Given the description of an element on the screen output the (x, y) to click on. 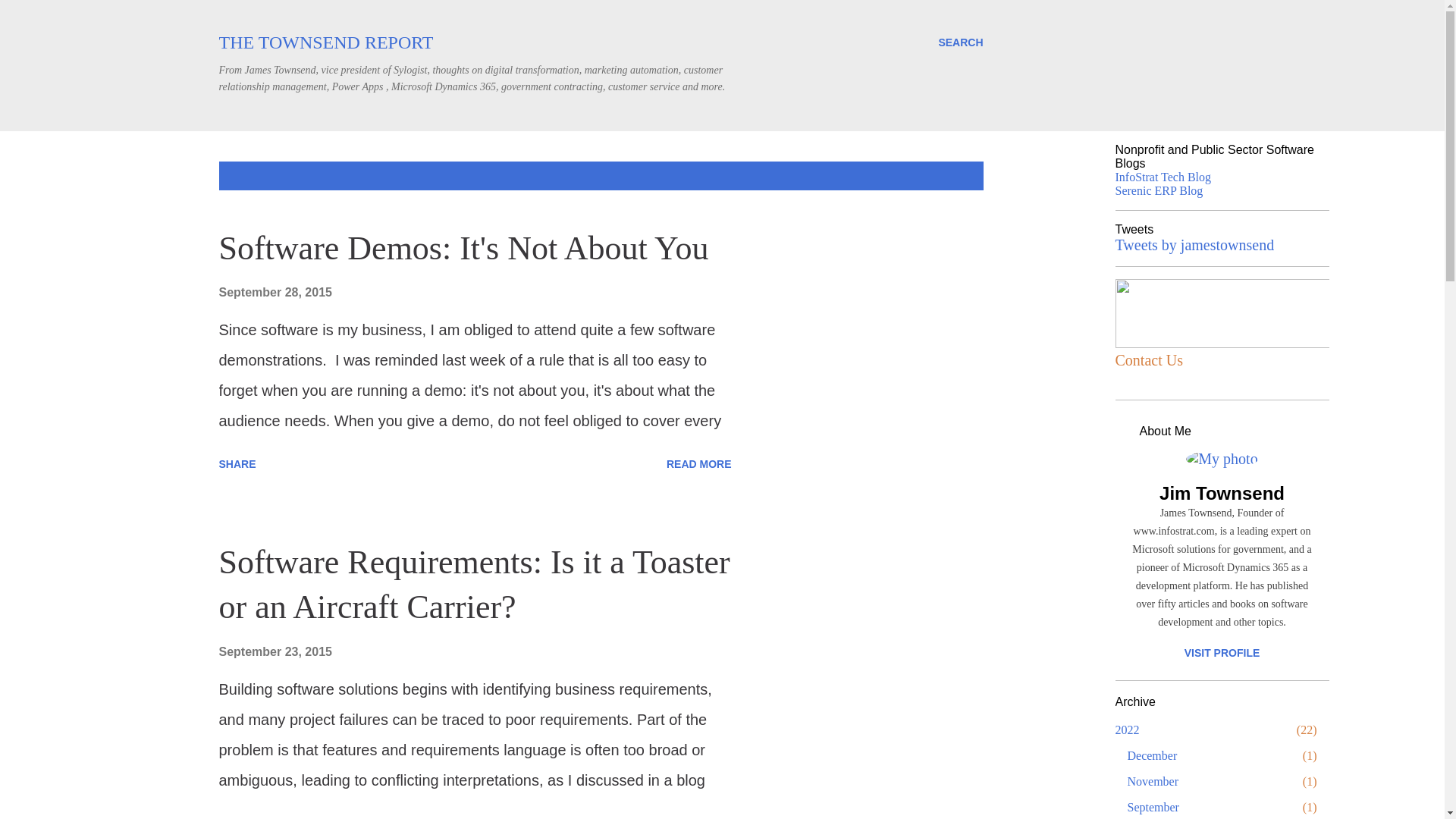
SHARE (237, 815)
READ MORE (699, 815)
September 28, 2015 (274, 291)
SHOW ALL (943, 175)
Software Demos: It's Not About You (699, 463)
permanent link (274, 651)
September 23, 2015 (274, 651)
READ MORE (699, 463)
Software Demos: It's Not About You (462, 248)
SEARCH (959, 42)
SHARE (237, 463)
permanent link (274, 291)
THE TOWNSEND REPORT (325, 42)
